Given the description of an element on the screen output the (x, y) to click on. 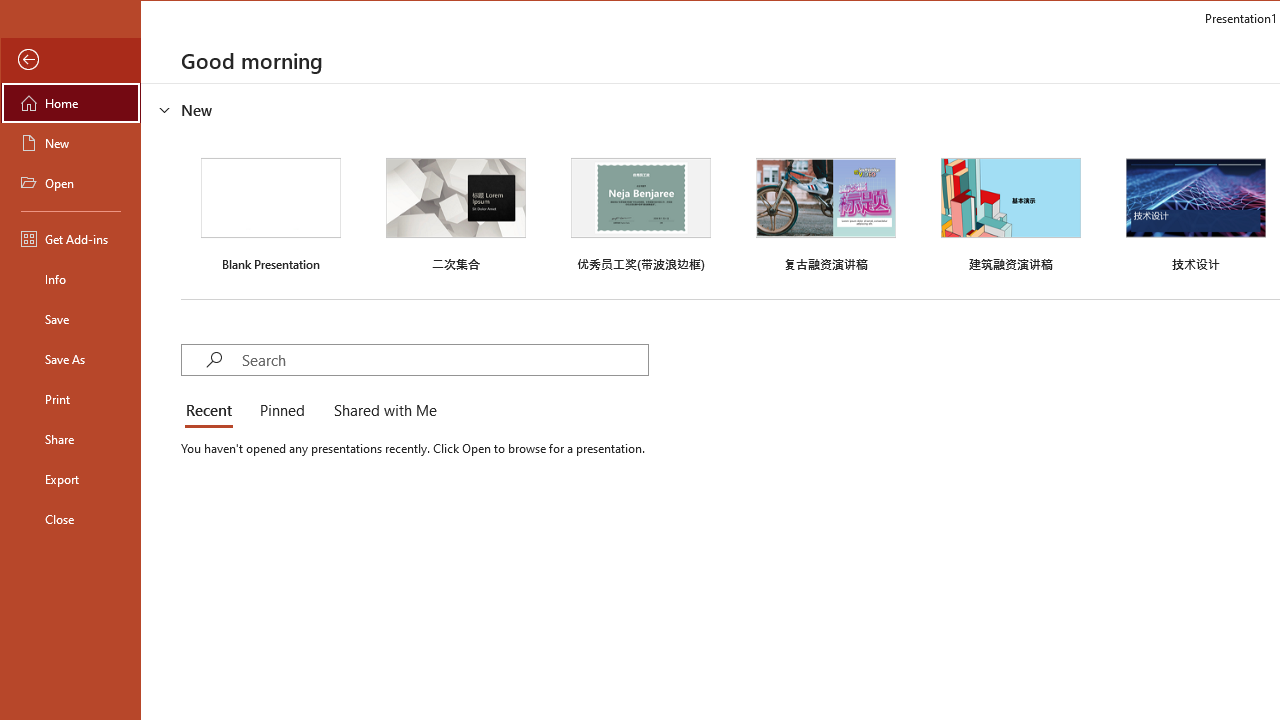
Back (70, 60)
Pinned (281, 411)
Get Add-ins (70, 238)
Hide or show region (164, 109)
Export (70, 478)
